Given the description of an element on the screen output the (x, y) to click on. 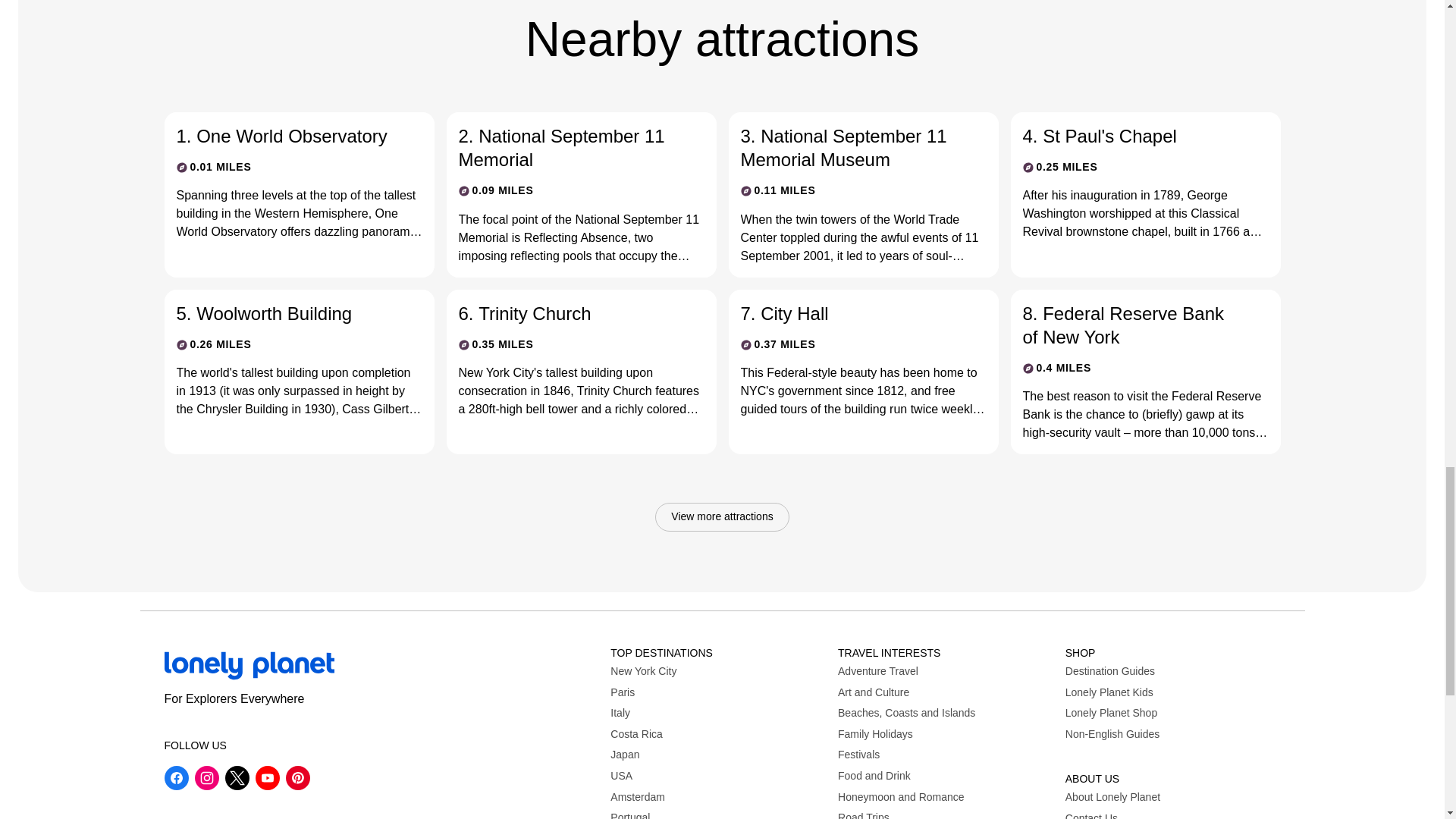
7. City Hall (849, 313)
1. One World Observatory (286, 136)
3. National September 11 Memorial Museum (849, 147)
4. St Paul's Chapel (1132, 136)
8. Federal Reserve Bank of New York (1132, 325)
2. National September 11 Memorial (568, 147)
5. Woolworth Building (286, 313)
6. Trinity Church (568, 313)
